Given the description of an element on the screen output the (x, y) to click on. 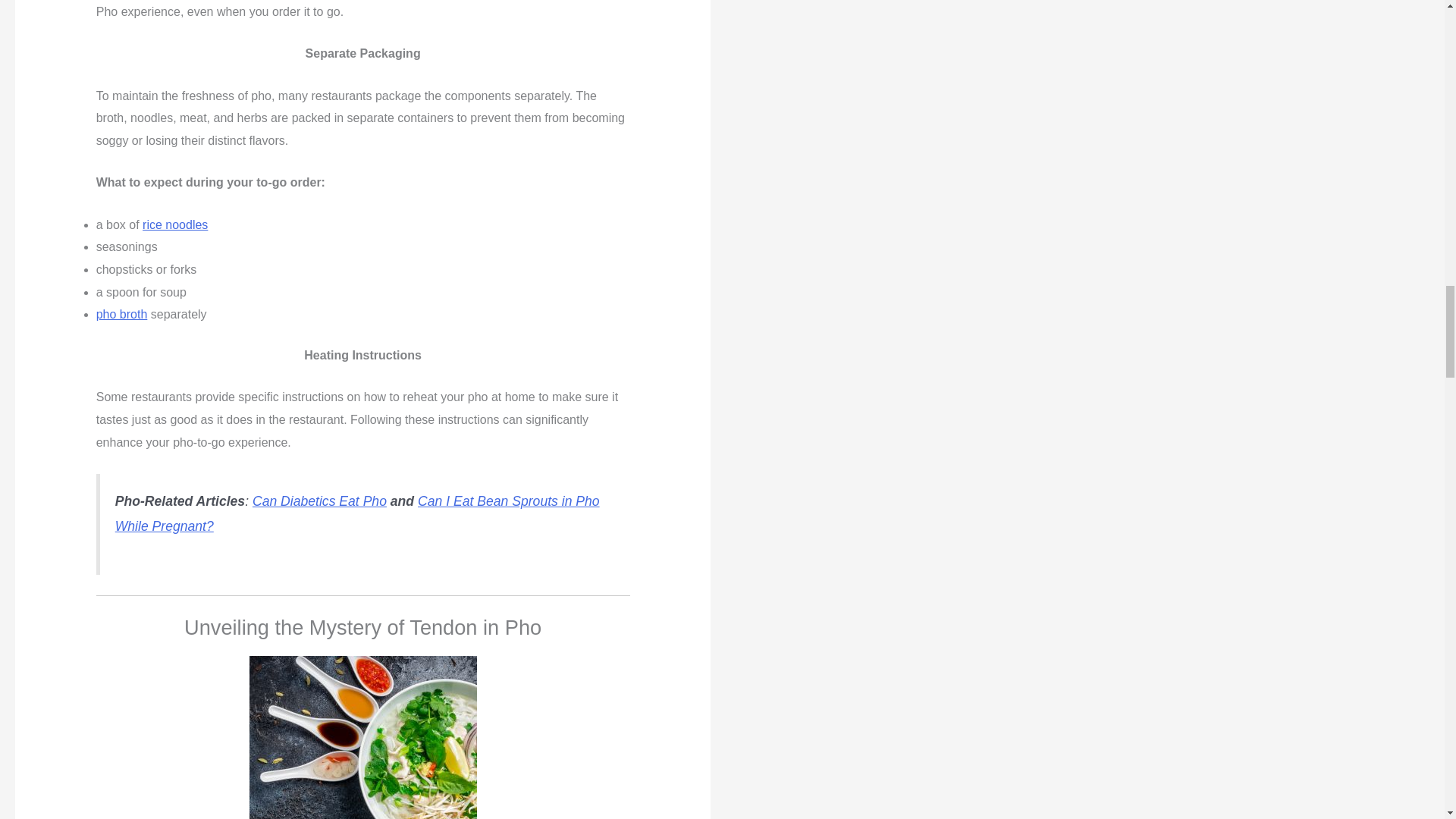
rice noodles (175, 224)
